Given the description of an element on the screen output the (x, y) to click on. 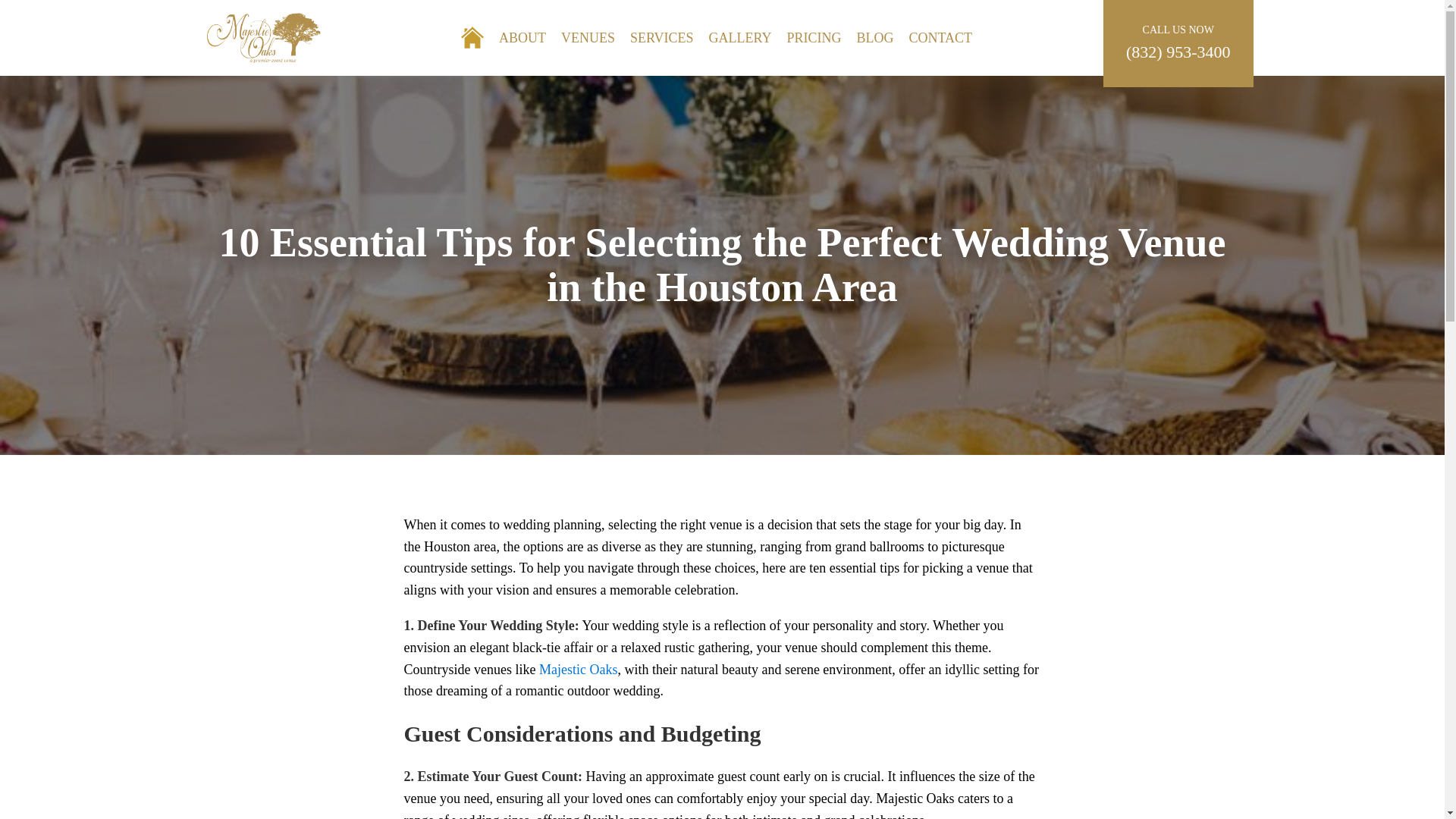
SERVICES (662, 38)
ABOUT (522, 38)
CONTACT (940, 38)
BLOG (874, 38)
Majestic Oaks (577, 669)
GALLERY (739, 38)
CALL US NOW (1178, 30)
VENUES (588, 38)
PRICING (813, 38)
